Given the description of an element on the screen output the (x, y) to click on. 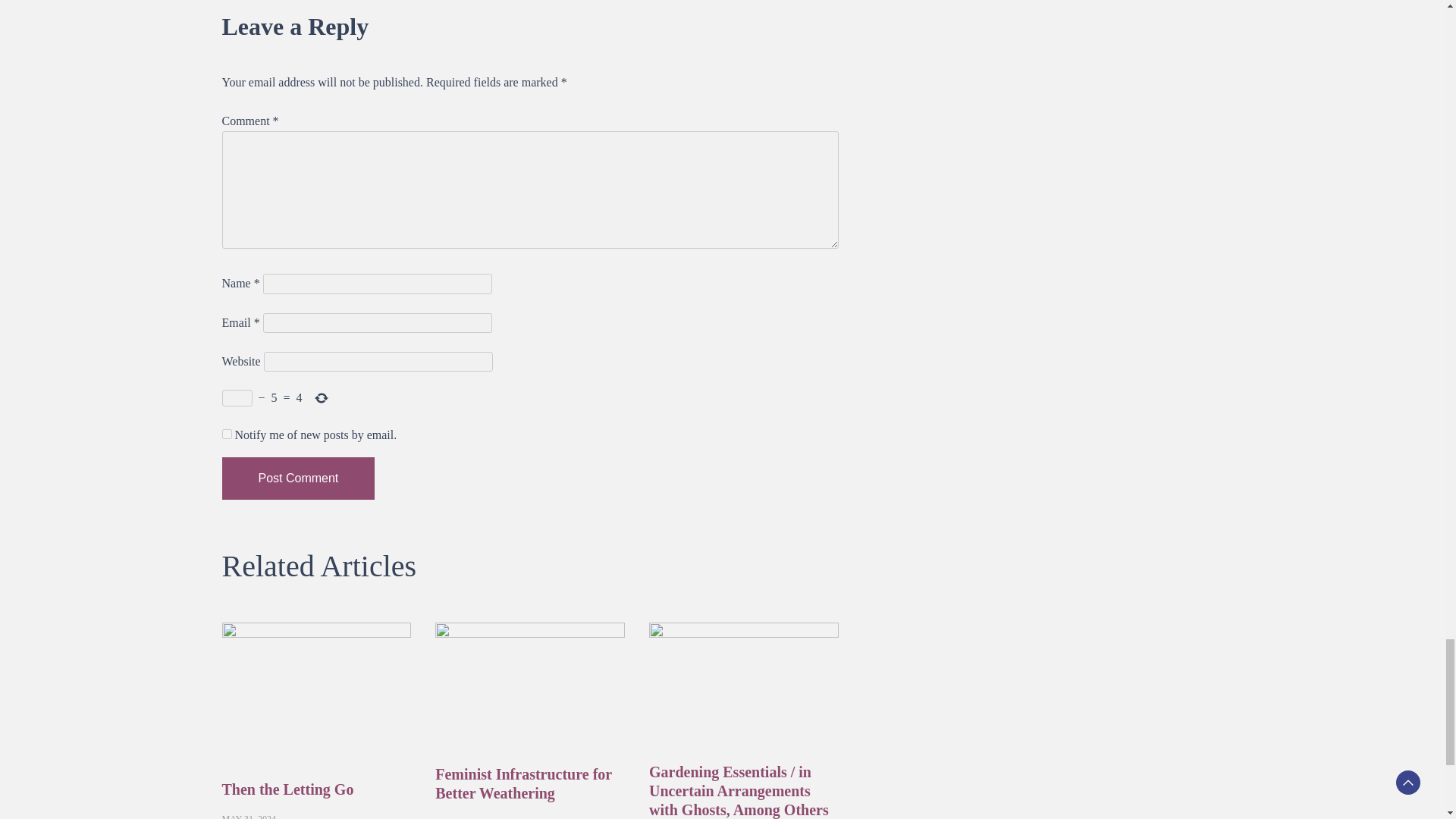
Post Comment (297, 478)
subscribe (226, 433)
